Given the description of an element on the screen output the (x, y) to click on. 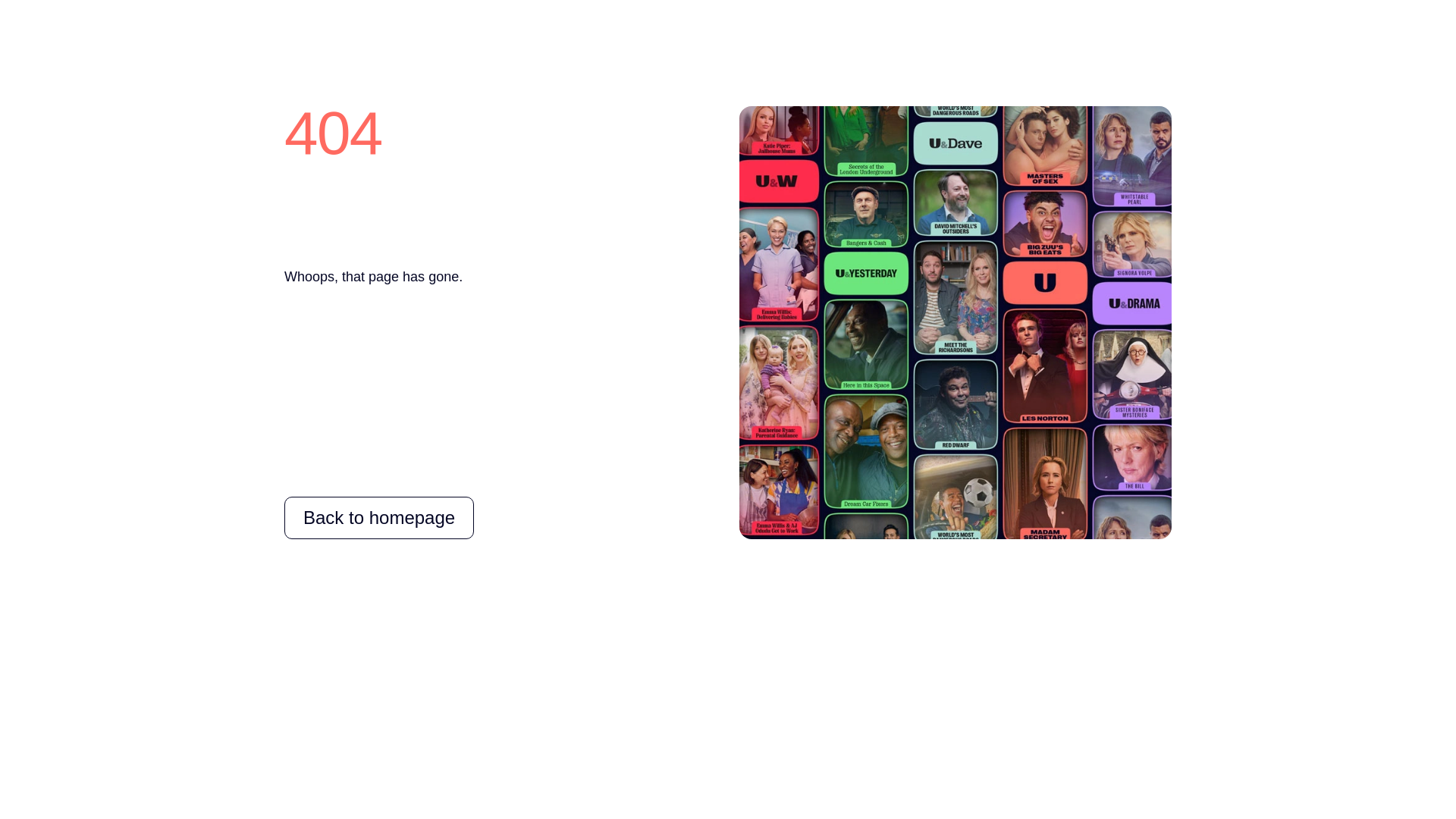
Back to homepage (378, 517)
Back to homepage (378, 517)
